Given the description of an element on the screen output the (x, y) to click on. 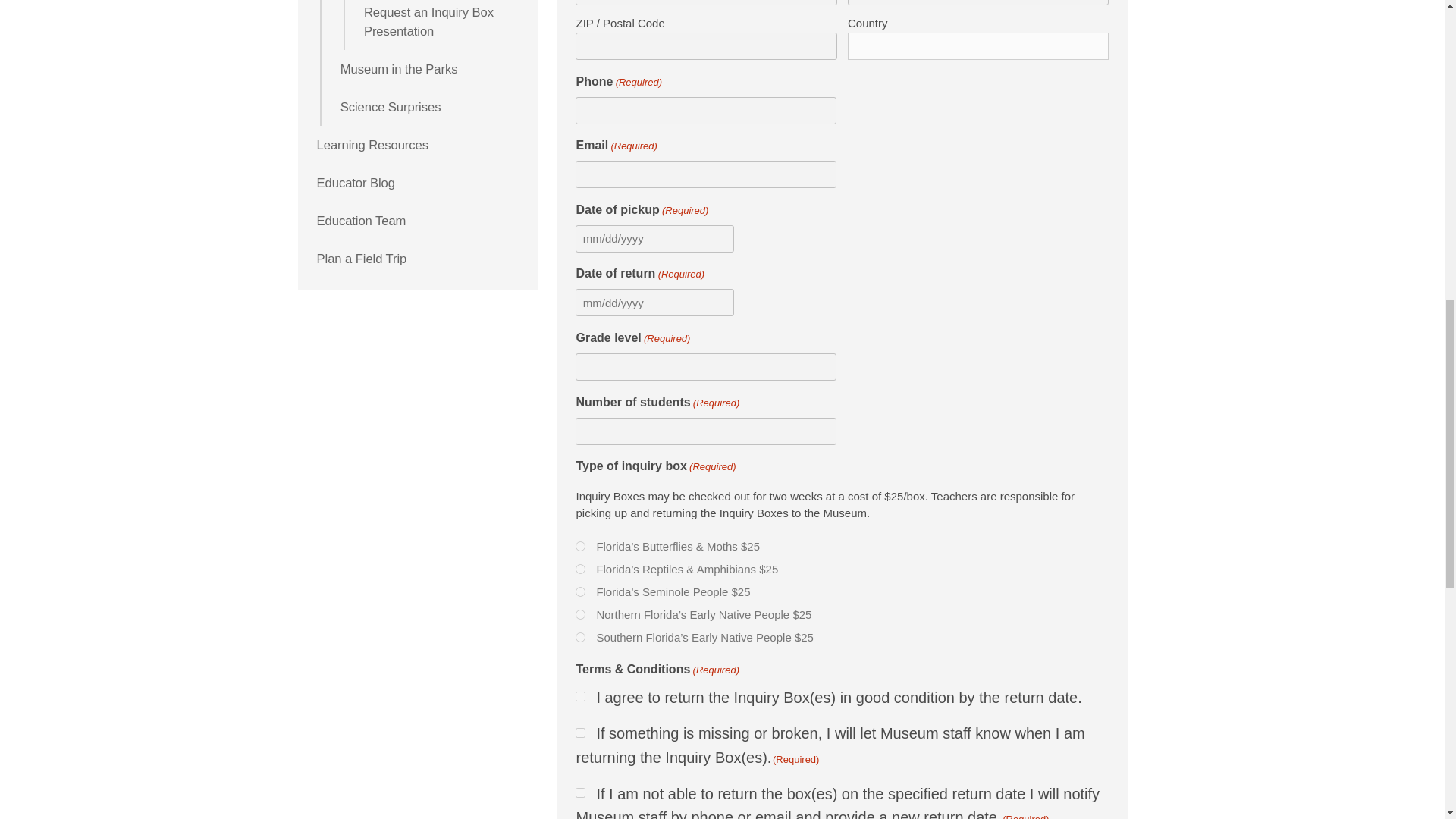
Learning Resources (418, 144)
Educator Blog (418, 182)
Request an Inquiry Box Presentation (441, 24)
1 (580, 696)
Science Surprises (429, 106)
Museum in the Parks (429, 68)
Education Team (418, 220)
